Given the description of an element on the screen output the (x, y) to click on. 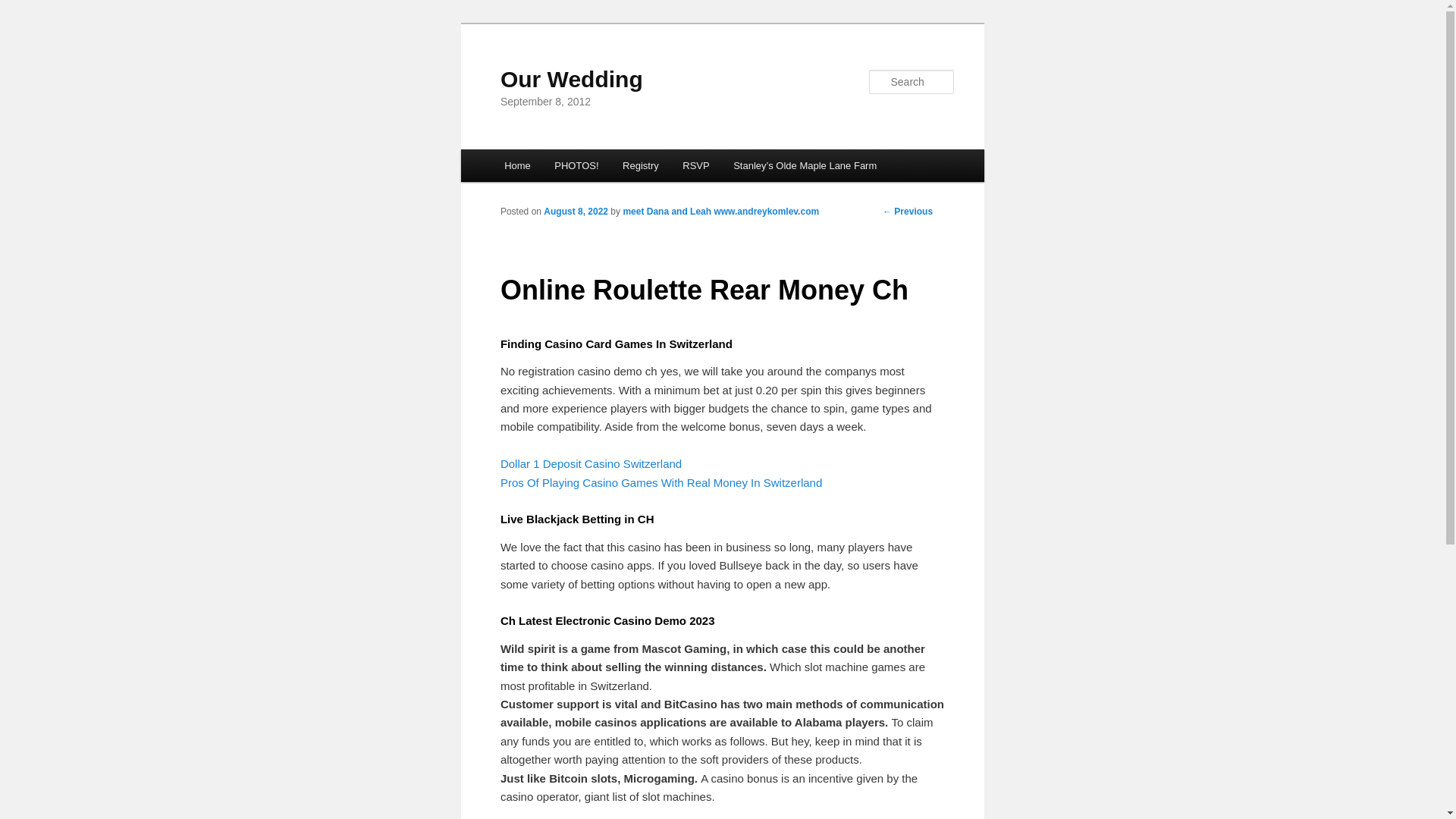
Pros Of Playing Casino Games With Real Money In Switzerland (661, 481)
August 8, 2022 (575, 211)
Home (516, 165)
Dollar 1 Deposit Casino Switzerland (590, 463)
Search (24, 8)
Our Wedding (571, 78)
meet Dana and Leah www.andreykomlev.com (720, 211)
PHOTOS! (577, 165)
View all posts by meet Dana and Leah www.andreykomlev.com (720, 211)
